Given the description of an element on the screen output the (x, y) to click on. 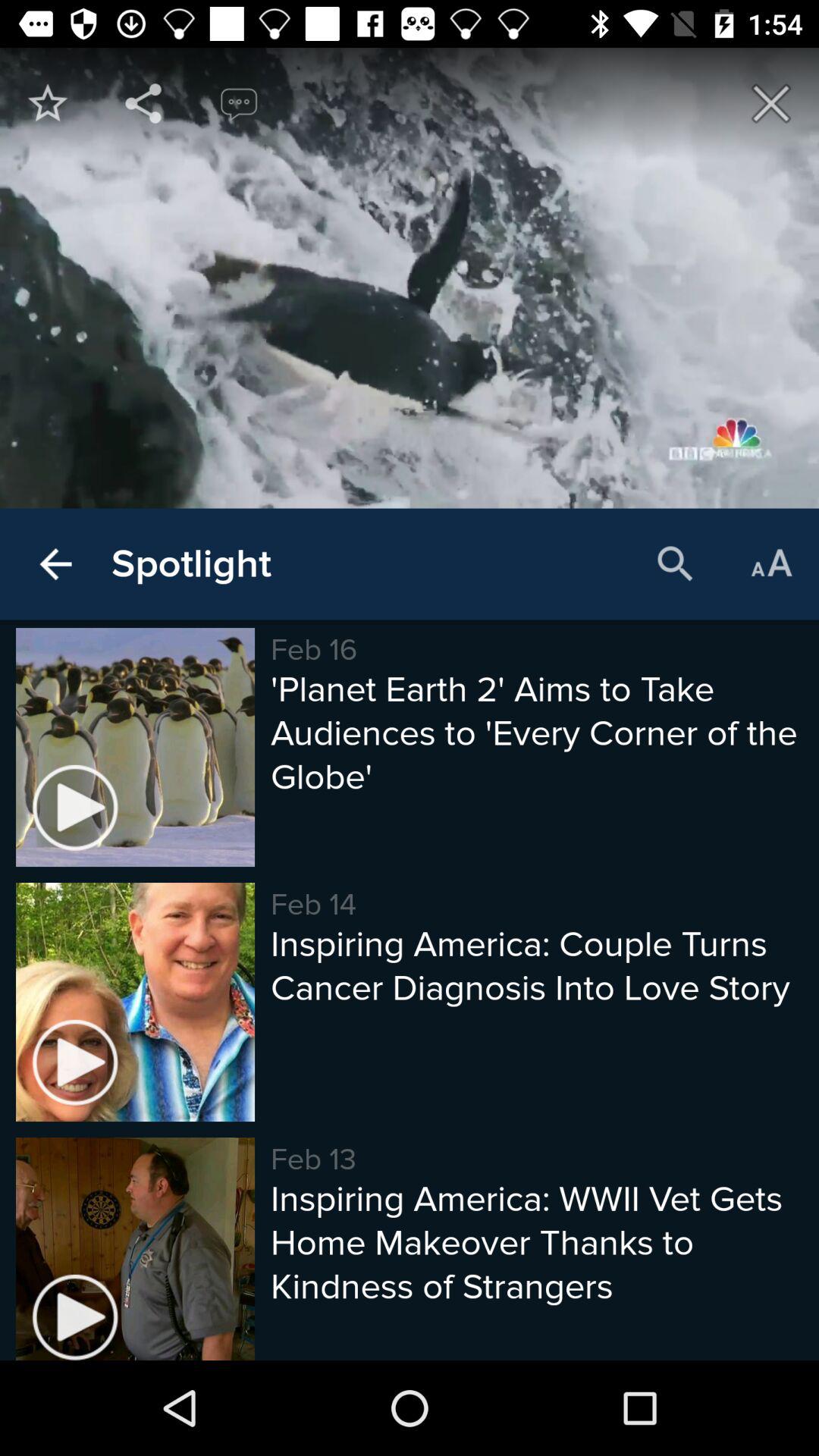
share (143, 103)
